Given the description of an element on the screen output the (x, y) to click on. 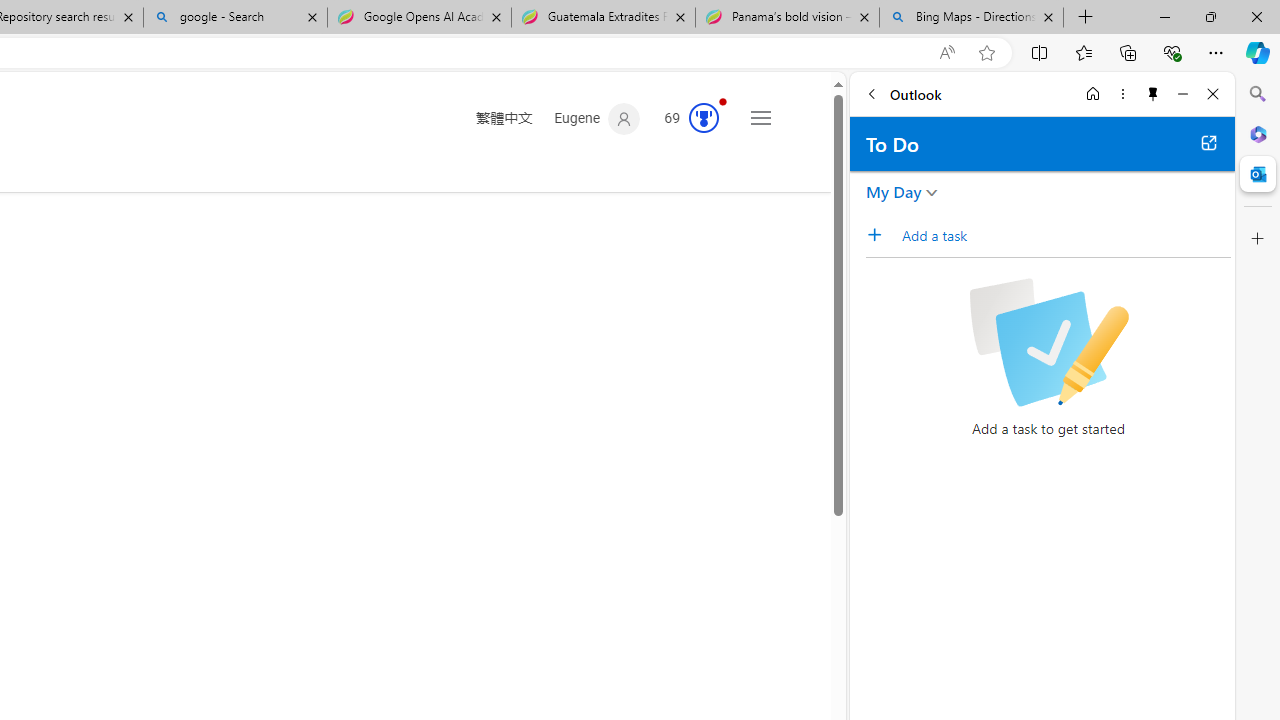
Restore (1210, 16)
Unpin side pane (1153, 93)
New Tab (1085, 17)
Favorites (1083, 52)
Open in new tab (1208, 142)
Split screen (1039, 52)
Settings and quick links (760, 117)
Collections (1128, 52)
Customize (1258, 239)
Close Outlook pane (1258, 174)
AutomationID: rh_meter (703, 117)
google - Search (234, 17)
Add a task (881, 235)
